Given the description of an element on the screen output the (x, y) to click on. 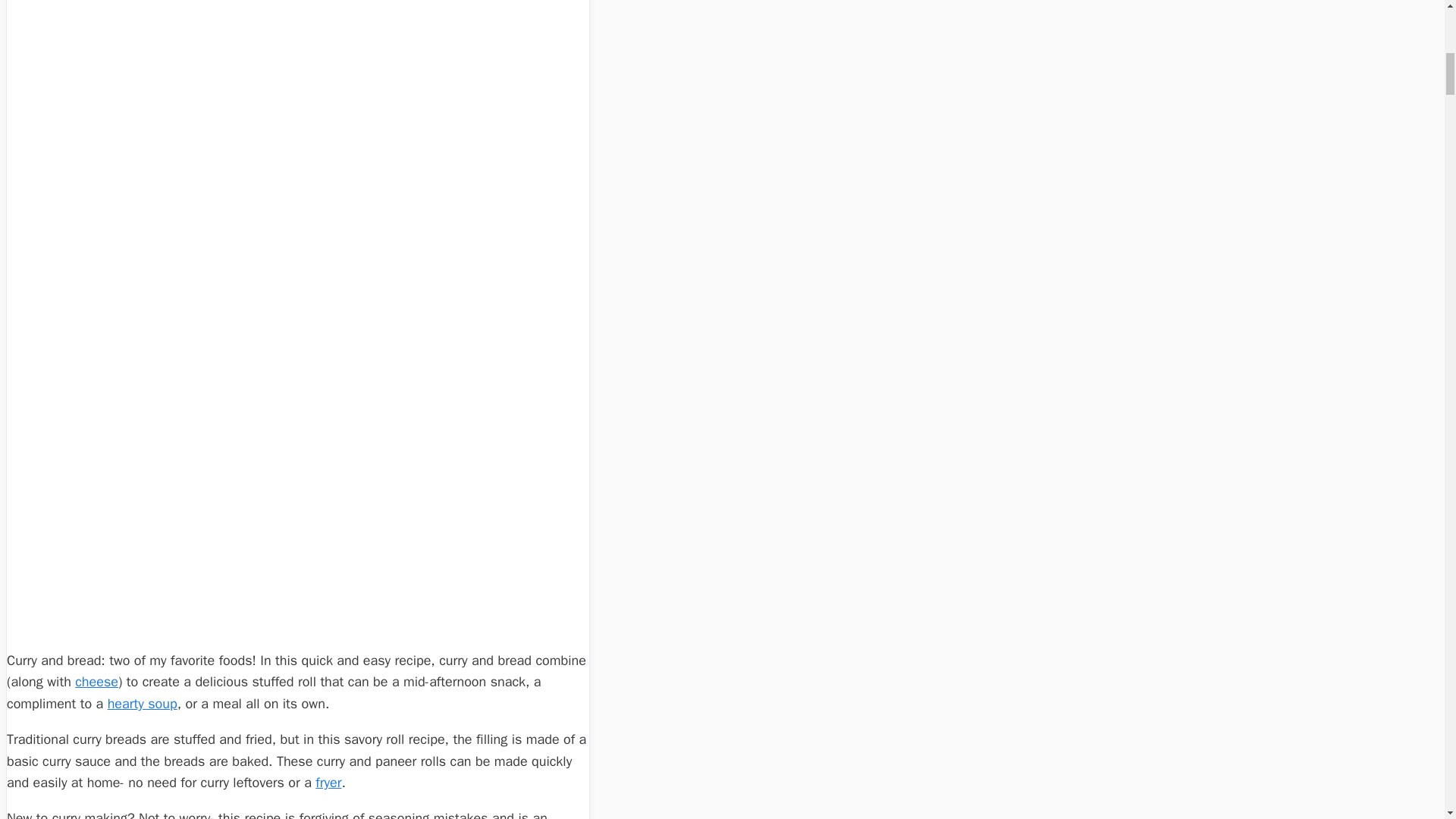
hearty soup (142, 703)
fryer (327, 782)
cheese (96, 681)
